Given the description of an element on the screen output the (x, y) to click on. 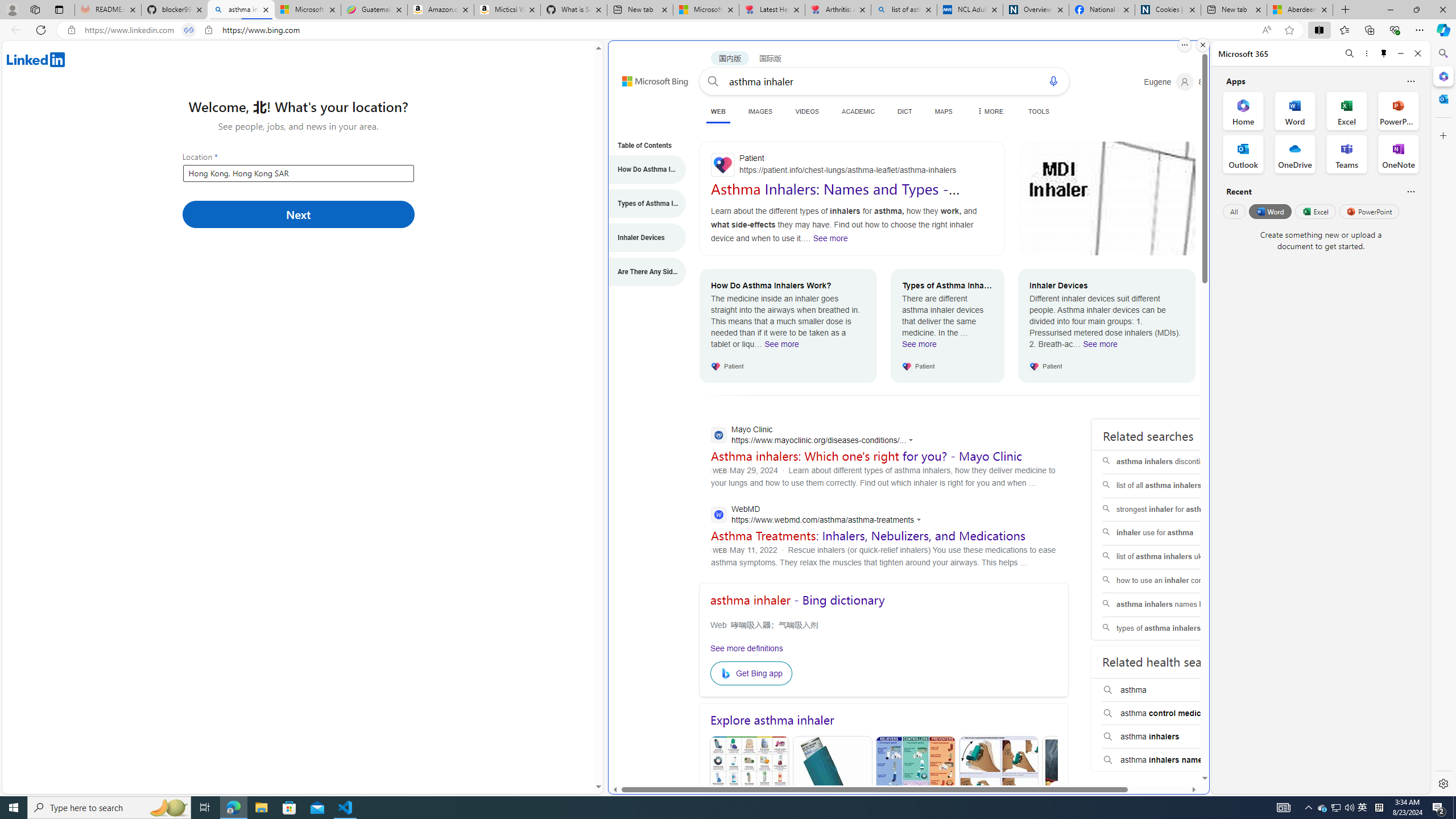
Word Office App (1295, 110)
asthma inhalers names (1174, 759)
asthma inhaler - Search (240, 9)
list of asthma inhalers uk (1174, 557)
list of all asthma inhalers (1174, 485)
Dropdown Menu (988, 111)
PowerPoint Office App (1398, 110)
asthma control medicine (1174, 713)
